Given the description of an element on the screen output the (x, y) to click on. 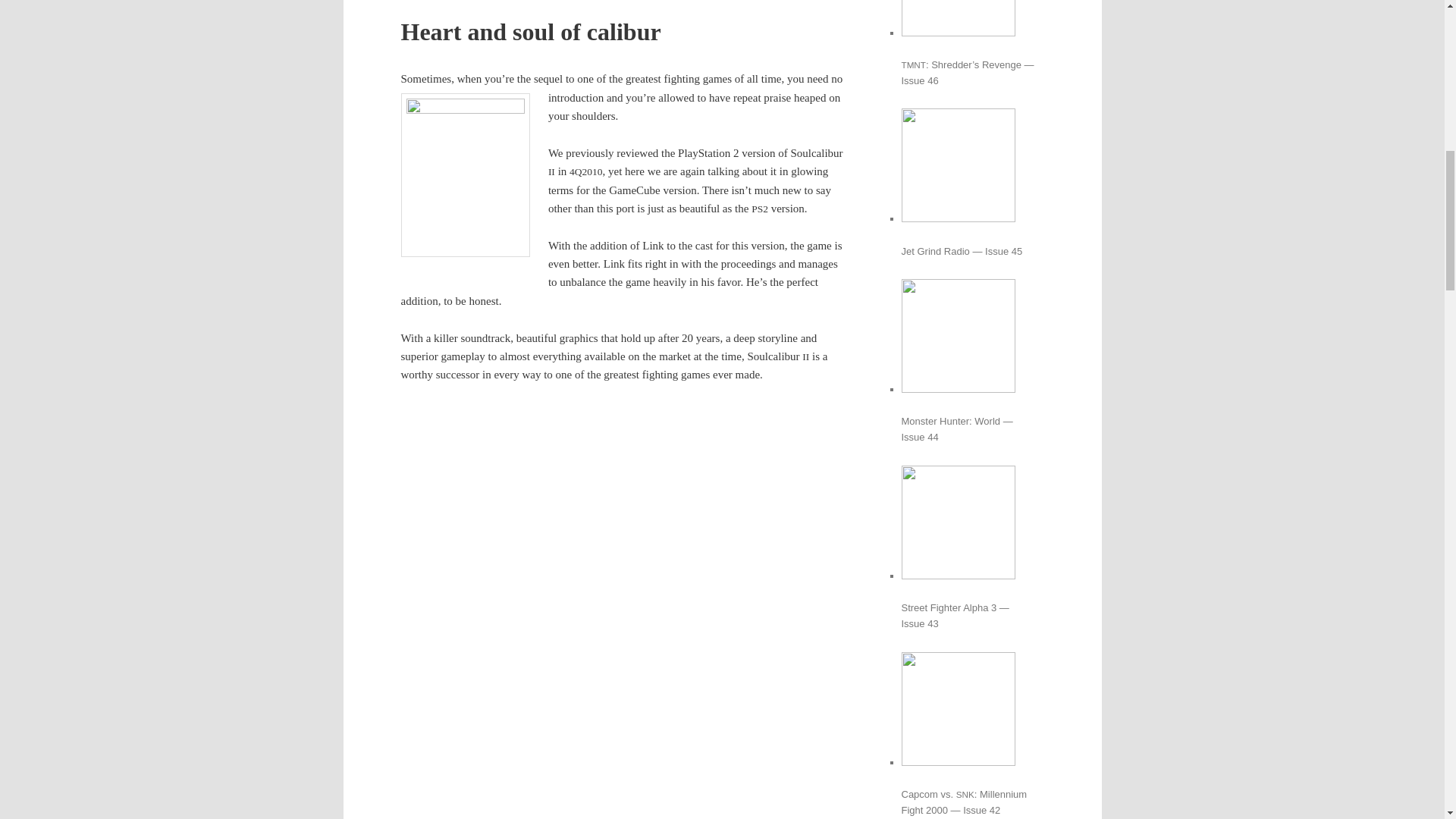
Soulcalibur II - 4th Quarter 2010 (621, 789)
